Given the description of an element on the screen output the (x, y) to click on. 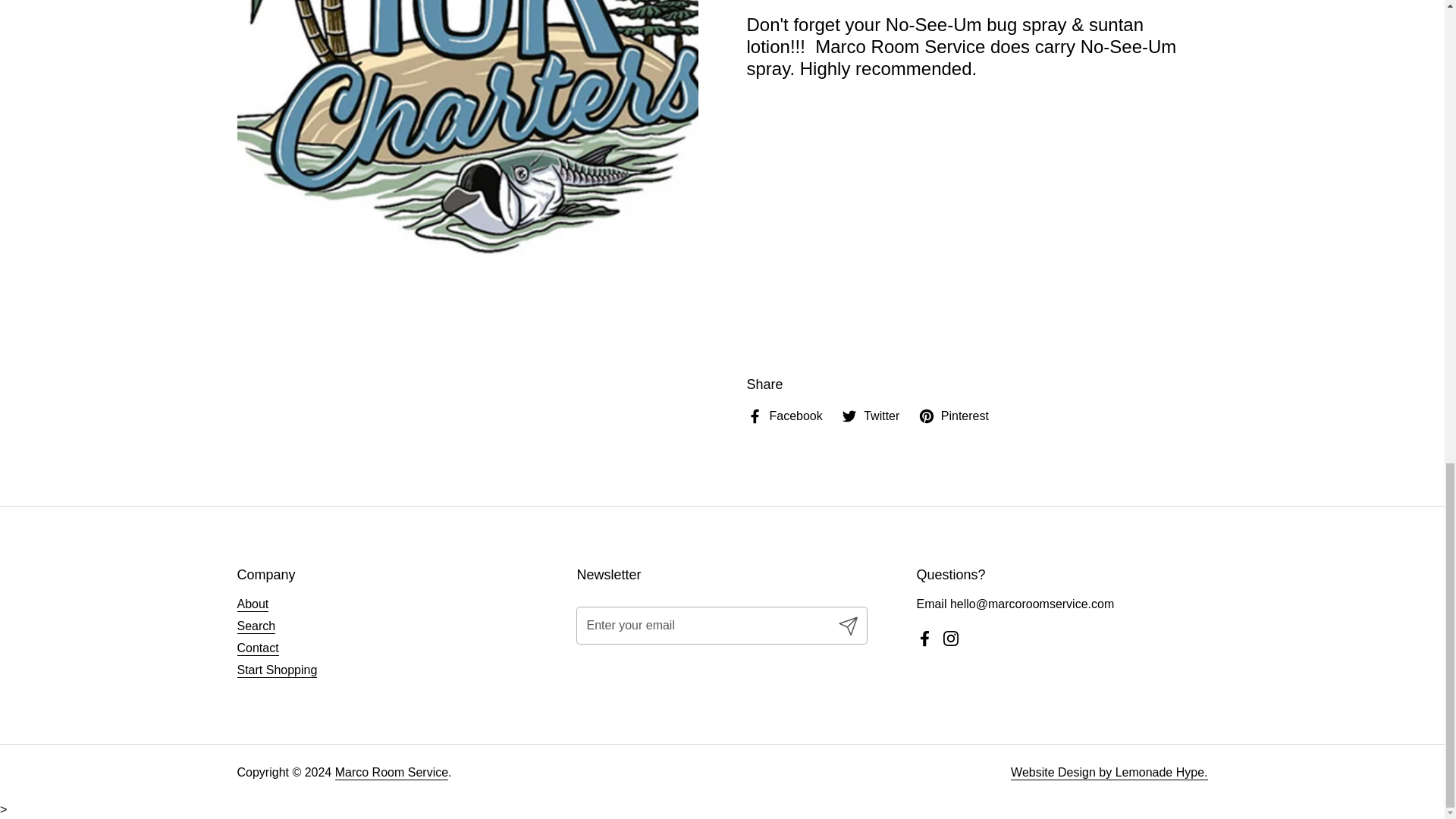
Share on pinterest (953, 416)
Share on twitter (870, 416)
Share on facebook (783, 416)
